Given the description of an element on the screen output the (x, y) to click on. 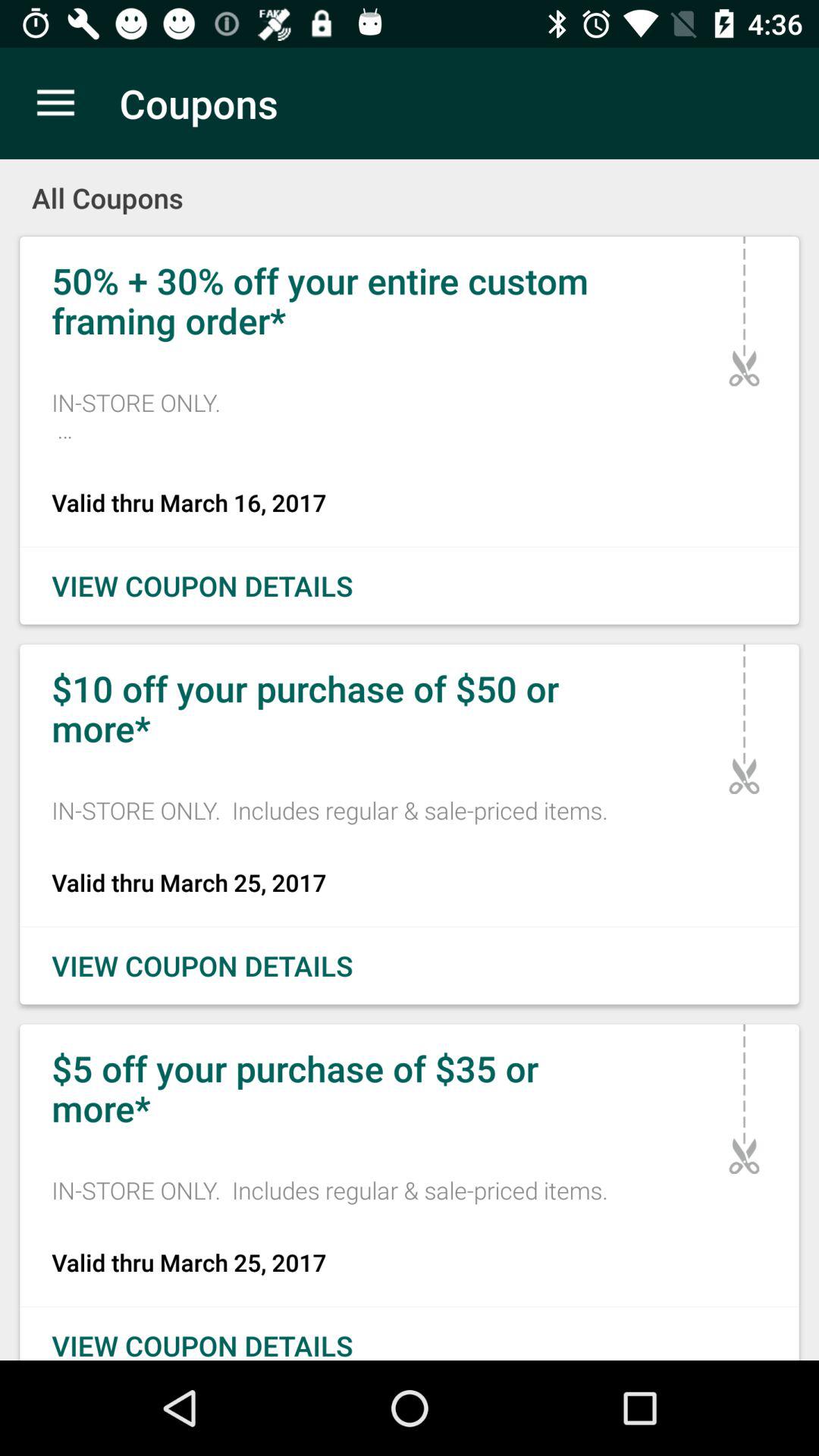
click icon next to the coupons icon (55, 103)
